Given the description of an element on the screen output the (x, y) to click on. 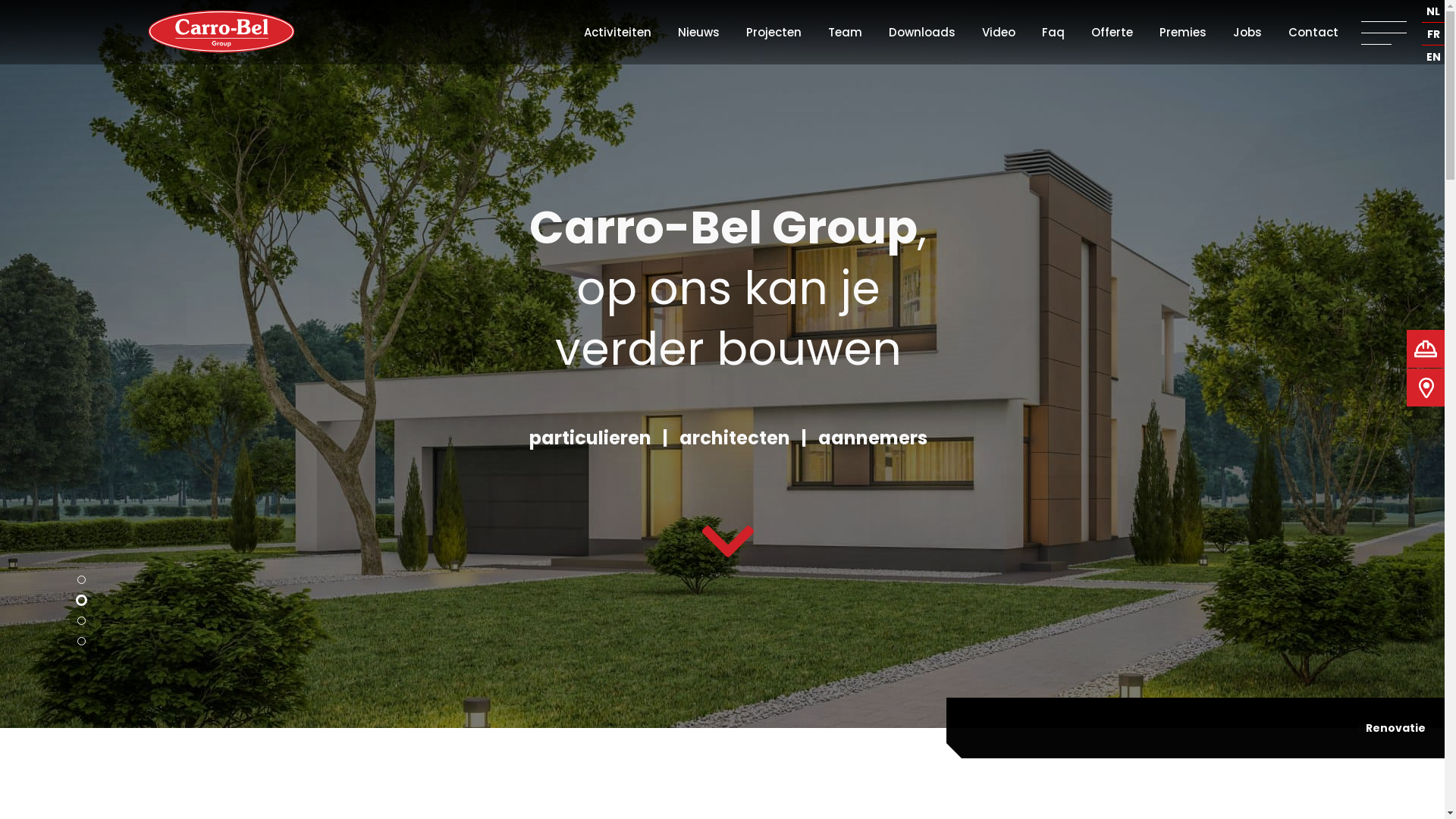
Faq Element type: text (1052, 32)
FR Element type: text (1432, 34)
3 Element type: text (81, 620)
Jobs Element type: text (1247, 32)
Downloads Element type: text (921, 32)
Offerte Element type: text (1111, 32)
4 Element type: text (81, 641)
1 Element type: text (81, 579)
Projecten Element type: text (773, 32)
Overslaan en naar de inhoud gaan Element type: text (117, 0)
NL Element type: text (1432, 11)
Team Element type: text (845, 32)
Contact Element type: text (1313, 32)
Nieuws Element type: text (698, 32)
EN Element type: text (1432, 57)
Video Element type: text (998, 32)
2 Element type: text (81, 600)
Activiteiten Element type: text (617, 32)
Premies Element type: text (1182, 32)
